Given the description of an element on the screen output the (x, y) to click on. 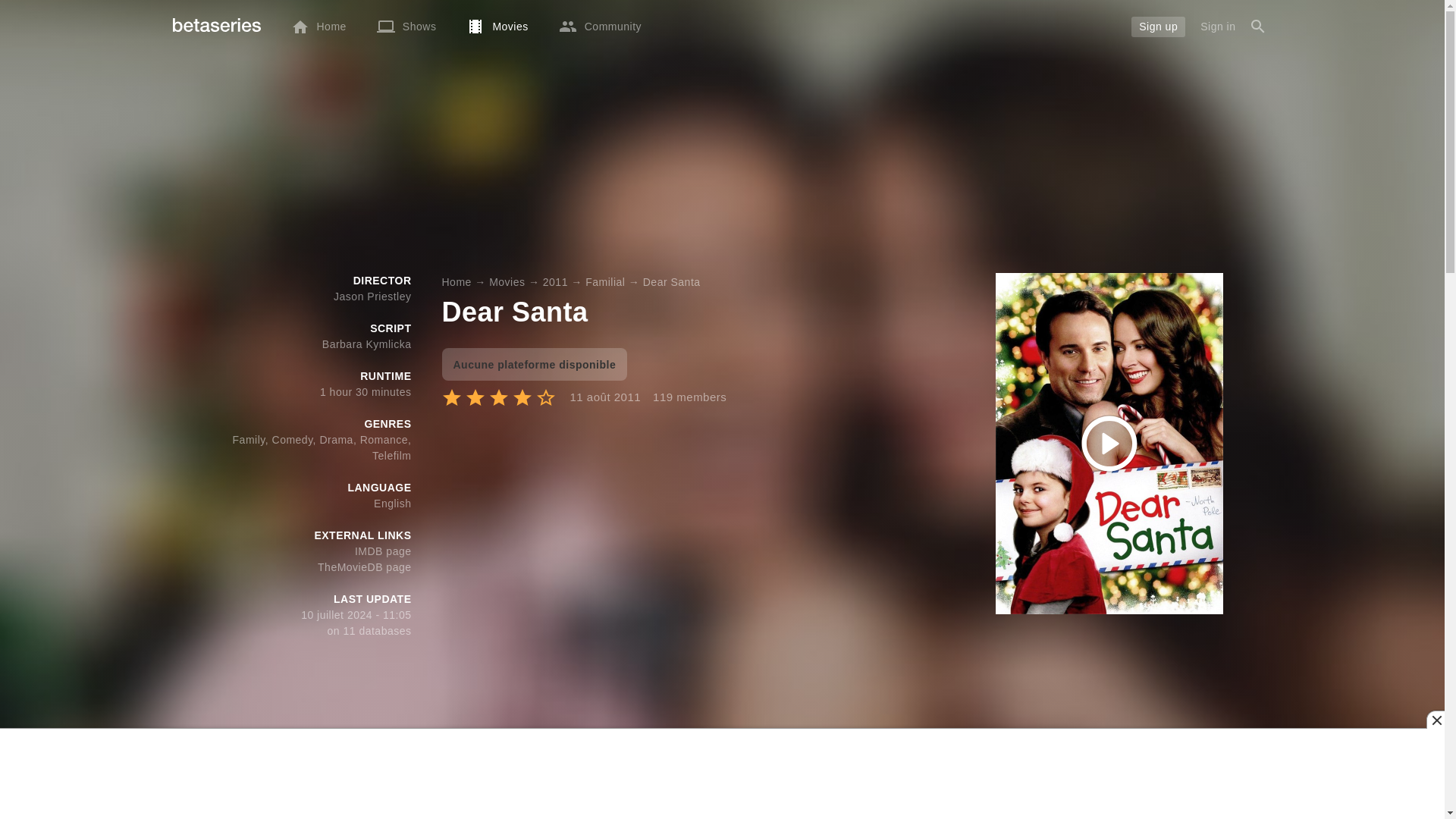
Barbara Kymlicka (366, 344)
Sign up (1158, 26)
2011 (555, 282)
Home (455, 282)
Aucune plateforme disponible (534, 364)
Dear Santa (671, 282)
Community (599, 26)
Movies (497, 26)
3rd party ad content (722, 774)
3rd party ad content (722, 166)
TheMovieDB page (363, 567)
IMDB page (383, 551)
Familial (604, 282)
Home (318, 26)
Movies (506, 282)
